Given the description of an element on the screen output the (x, y) to click on. 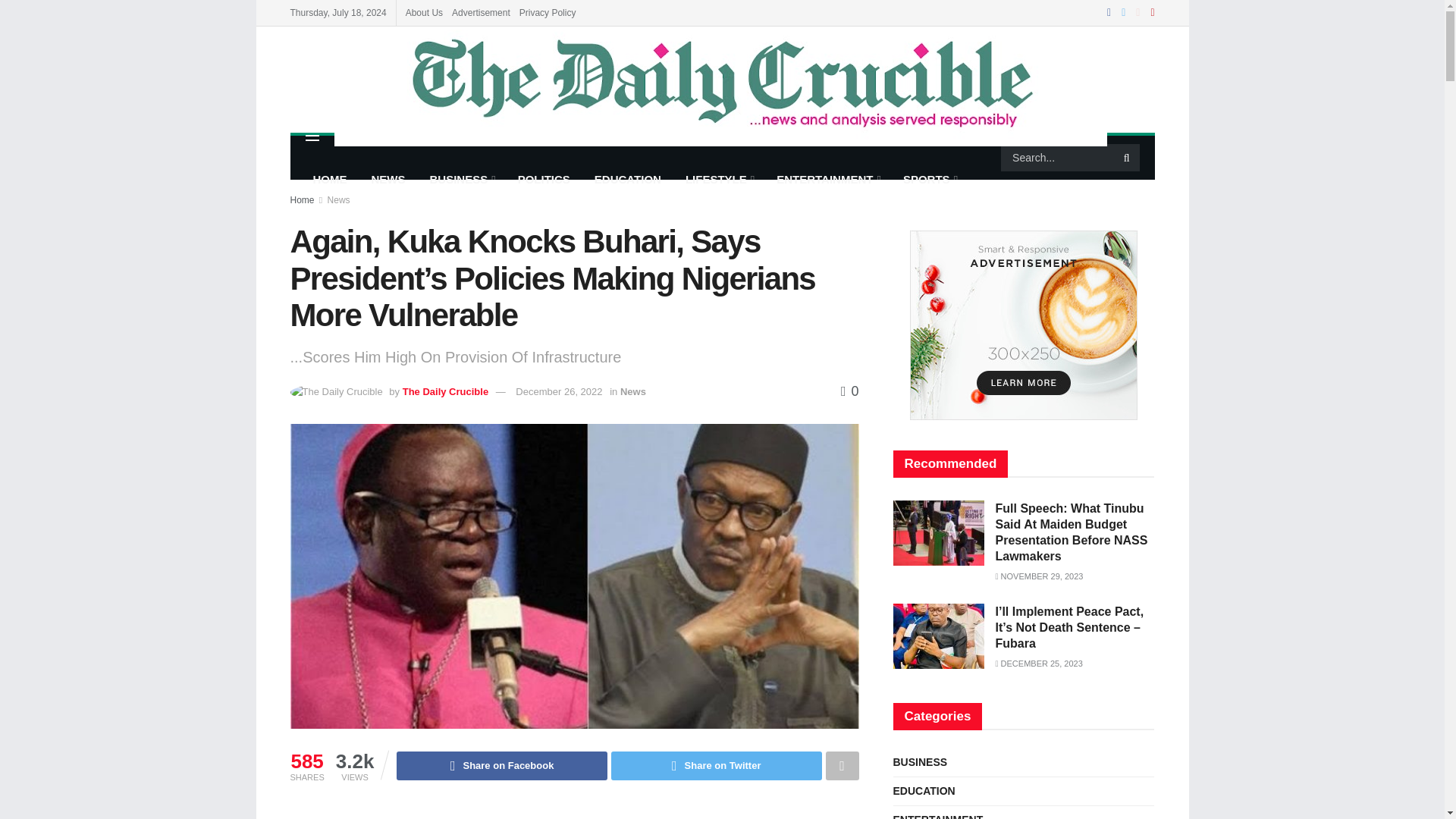
NEWS (388, 179)
LIFESTYLE (718, 179)
POLITICS (543, 179)
Advertisement (481, 12)
BUSINESS (460, 179)
Advertisement (574, 812)
HOME (328, 179)
EDUCATION (627, 179)
Privacy Policy (547, 12)
About Us (424, 12)
